Given the description of an element on the screen output the (x, y) to click on. 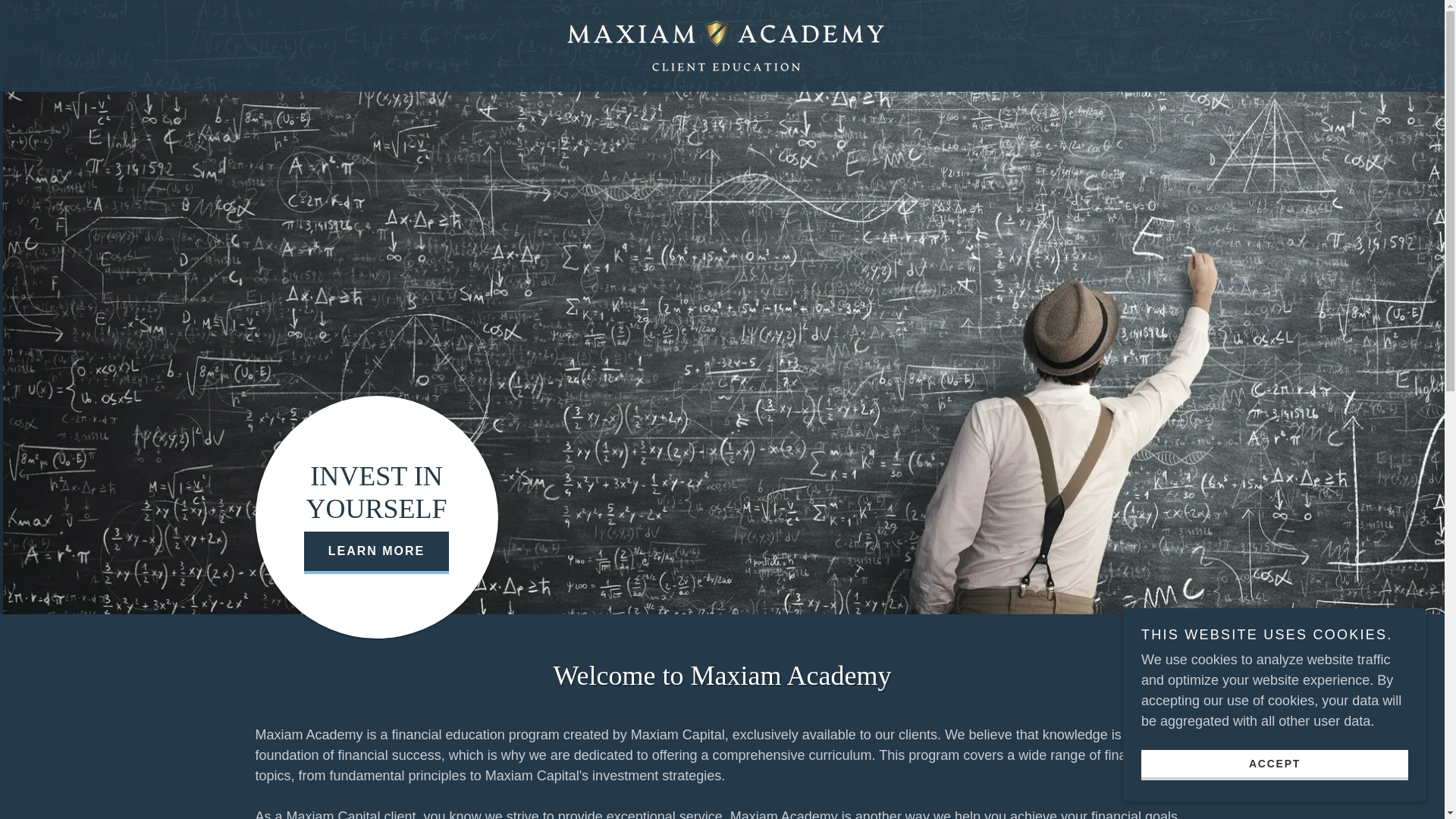
ACCEPT (1274, 764)
Maxiam Academy (721, 44)
LEARN MORE (376, 552)
